Given the description of an element on the screen output the (x, y) to click on. 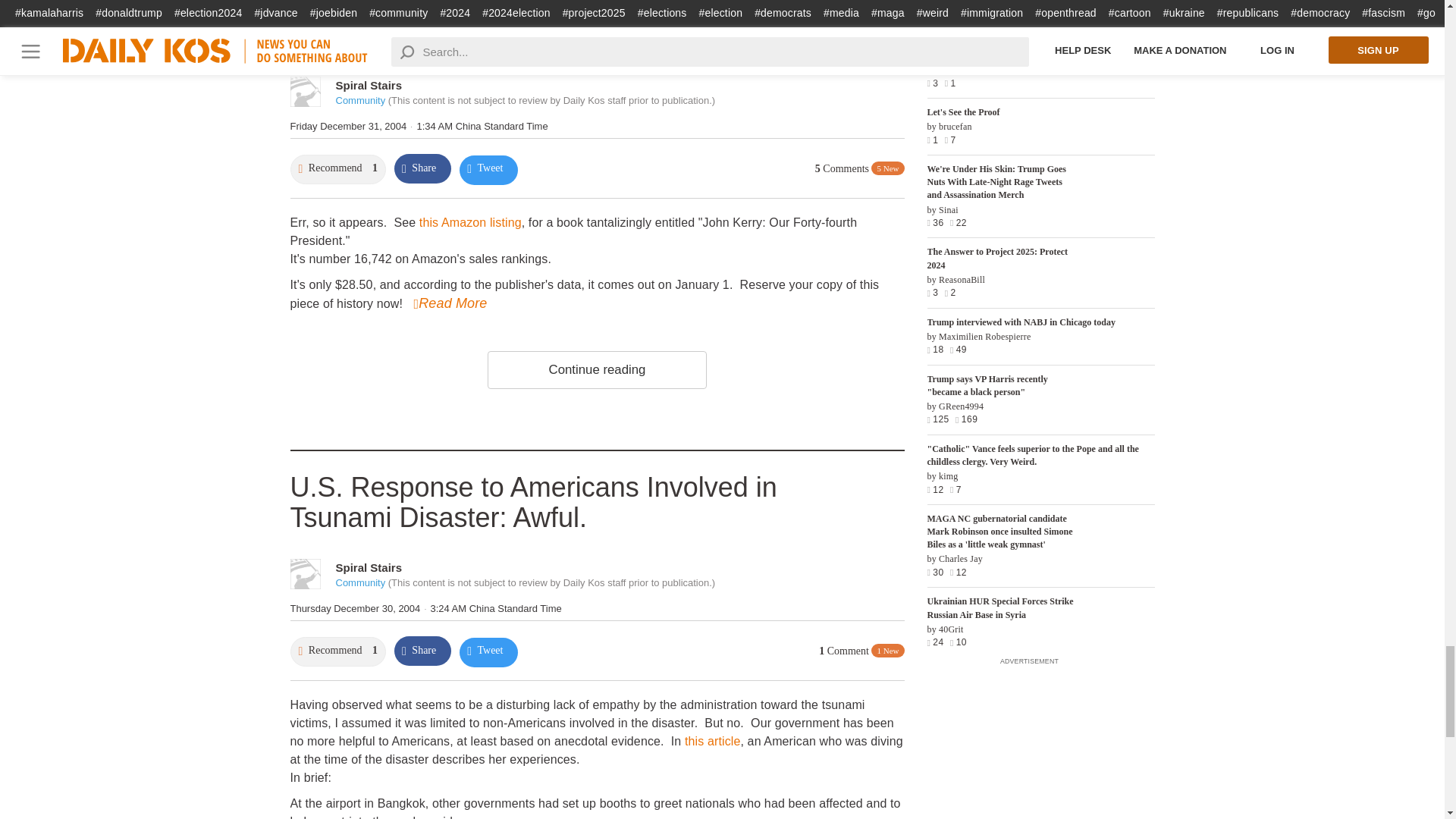
5 Comments 5 New (859, 168)
1 Comment 1 New (861, 651)
